Given the description of an element on the screen output the (x, y) to click on. 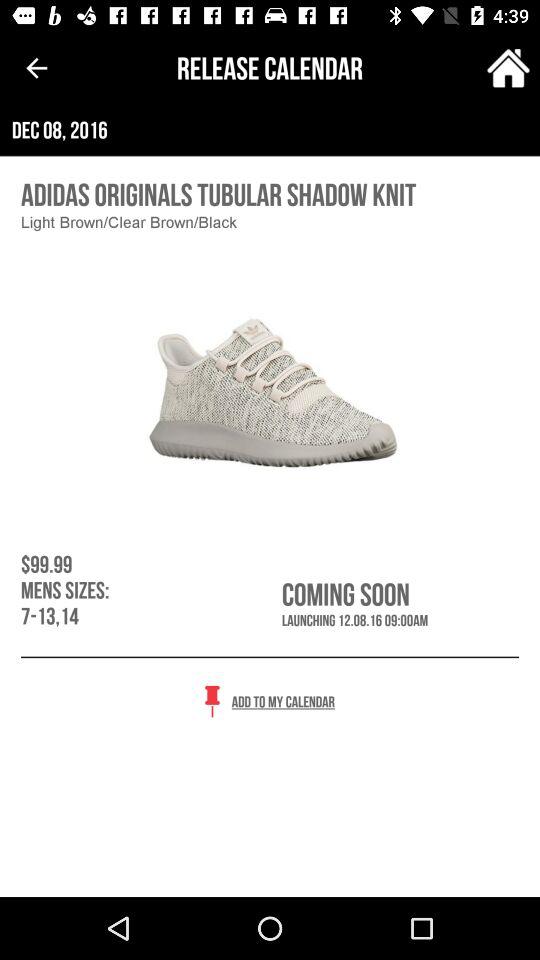
turn off the item next to the release calendar (508, 67)
